Given the description of an element on the screen output the (x, y) to click on. 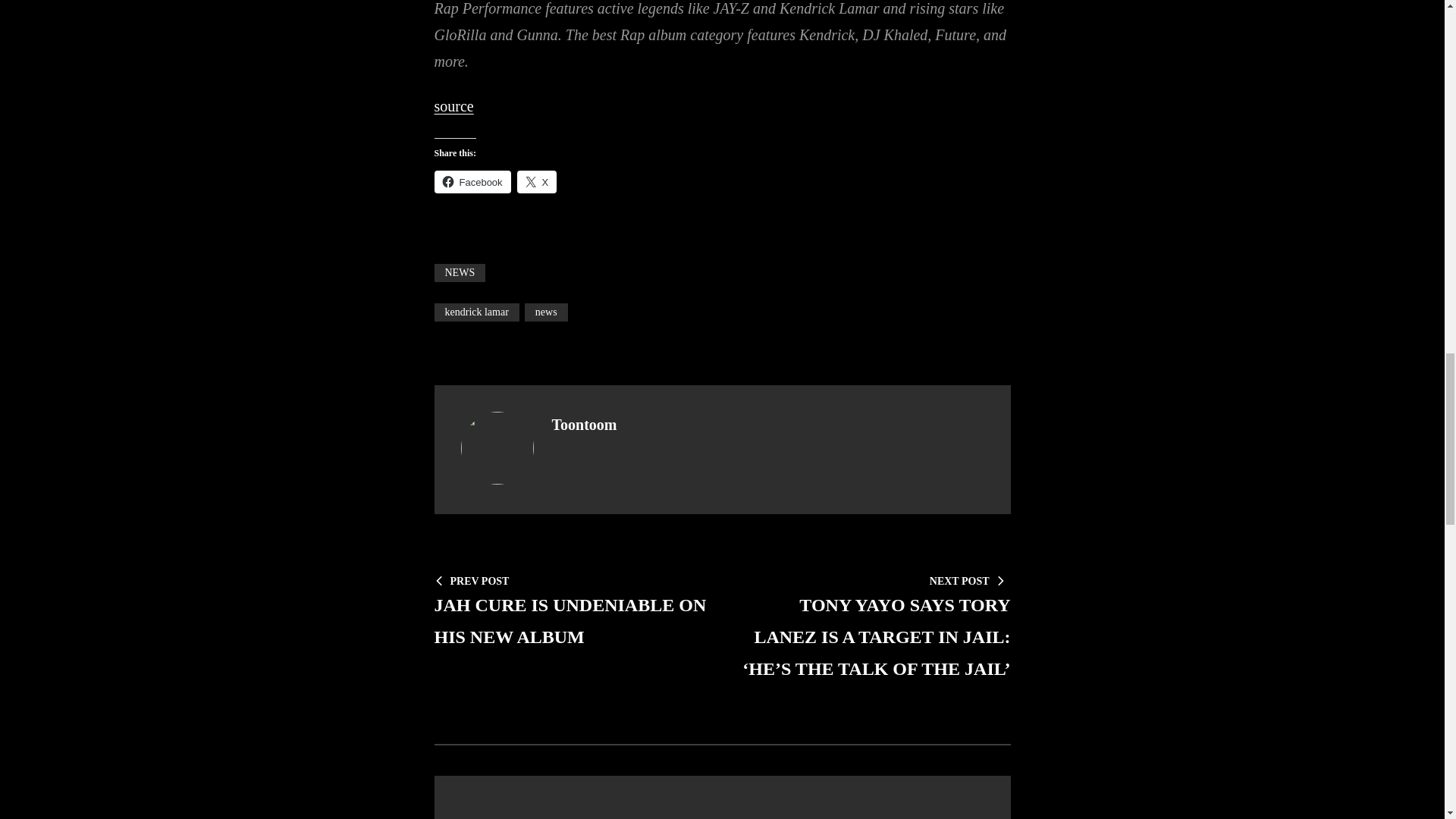
news (545, 312)
X (536, 181)
NEWS (458, 272)
Facebook (472, 181)
kendrick lamar (569, 610)
source (475, 312)
Click to share on X (453, 105)
Click to share on Facebook (536, 181)
